Given the description of an element on the screen output the (x, y) to click on. 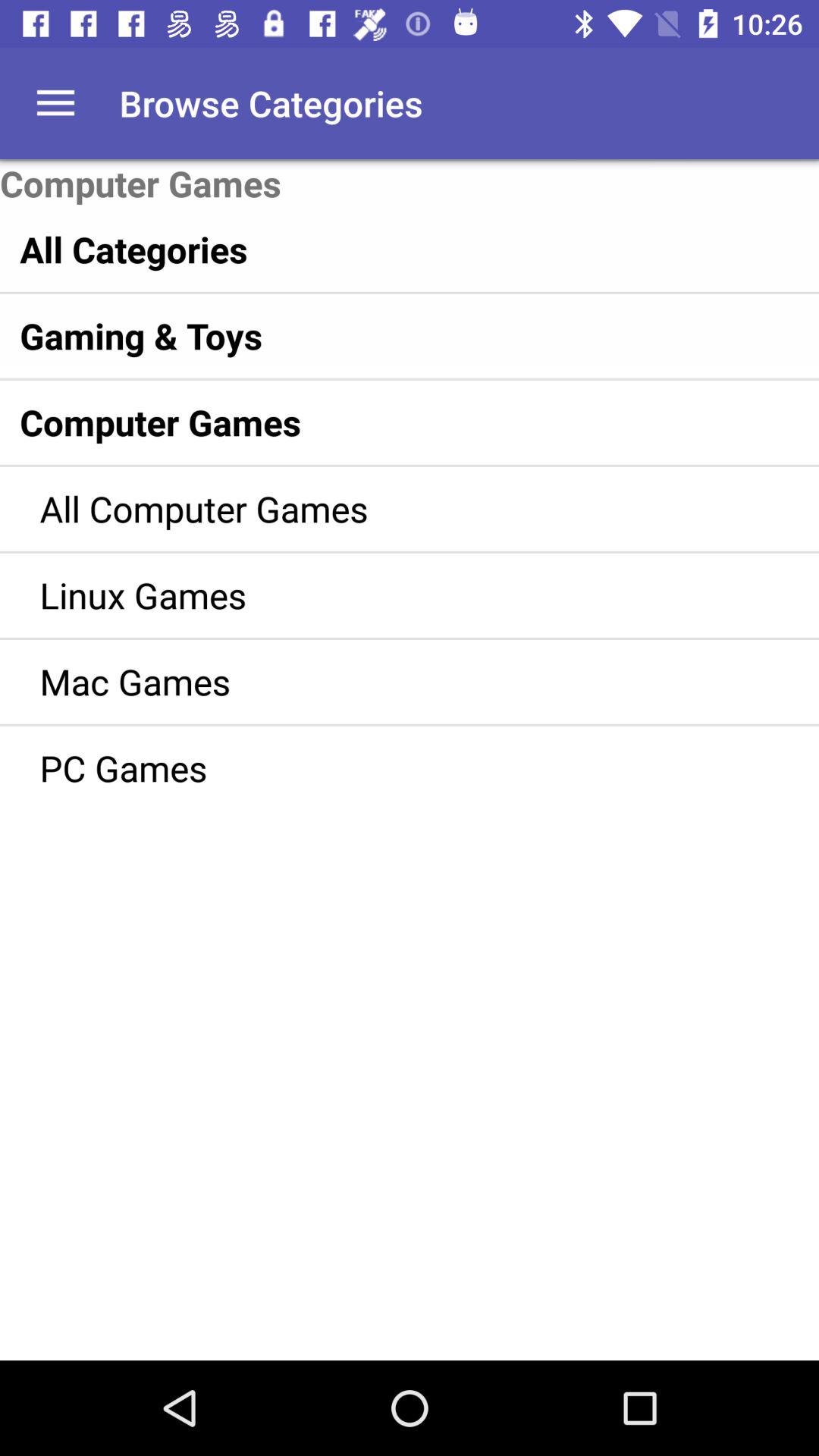
scroll until the gaming & toys icon (377, 335)
